Given the description of an element on the screen output the (x, y) to click on. 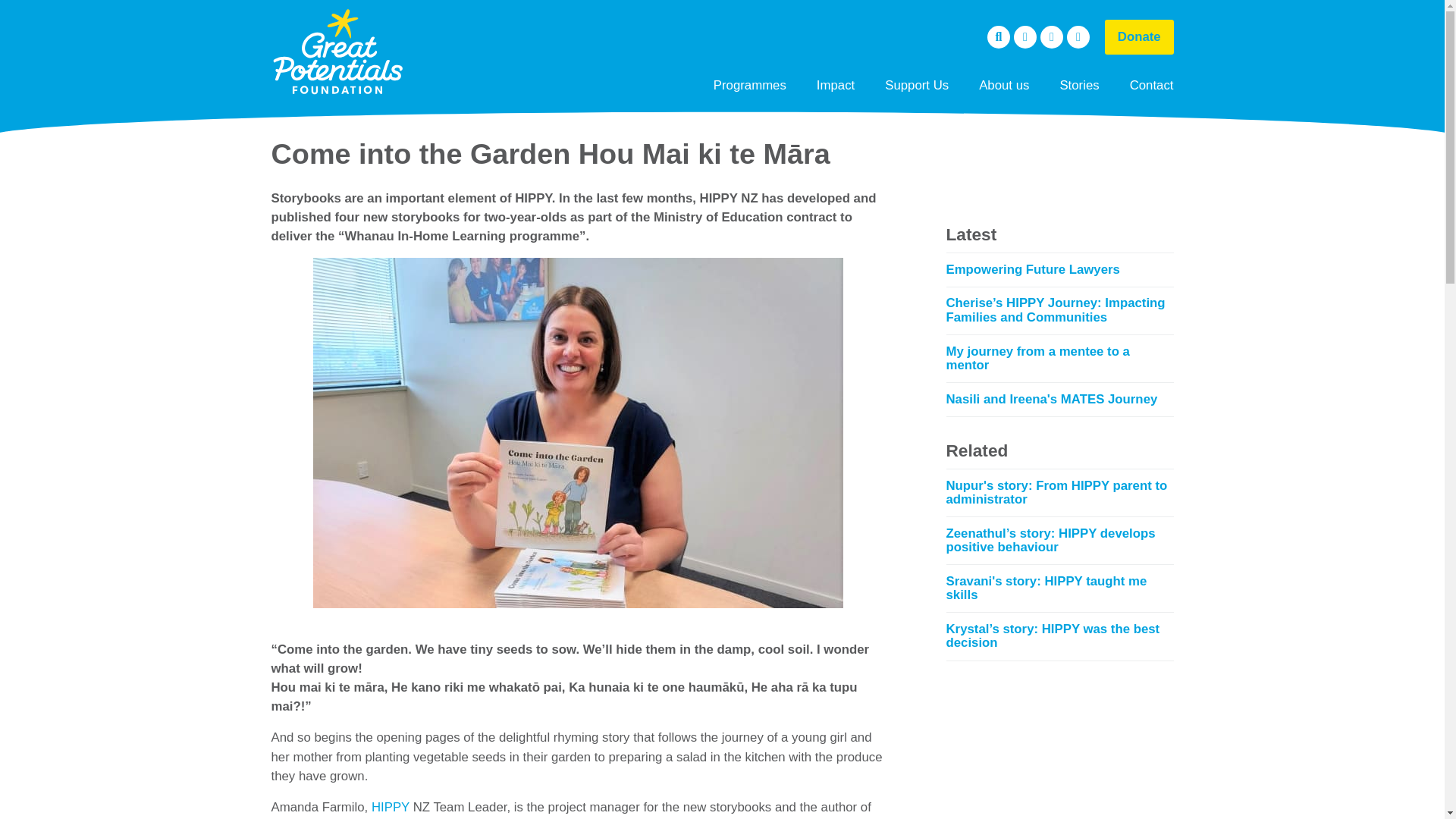
Great Potentials Foundation (337, 51)
Contact drop down menu (1152, 84)
Donate (1139, 36)
Support Us drop down menu (916, 84)
Linkedin (1051, 36)
About us drop down menu (1003, 84)
Stories (1078, 84)
Impact (835, 84)
Programmes drop down menu (750, 84)
Facebook (1024, 36)
